Given the description of an element on the screen output the (x, y) to click on. 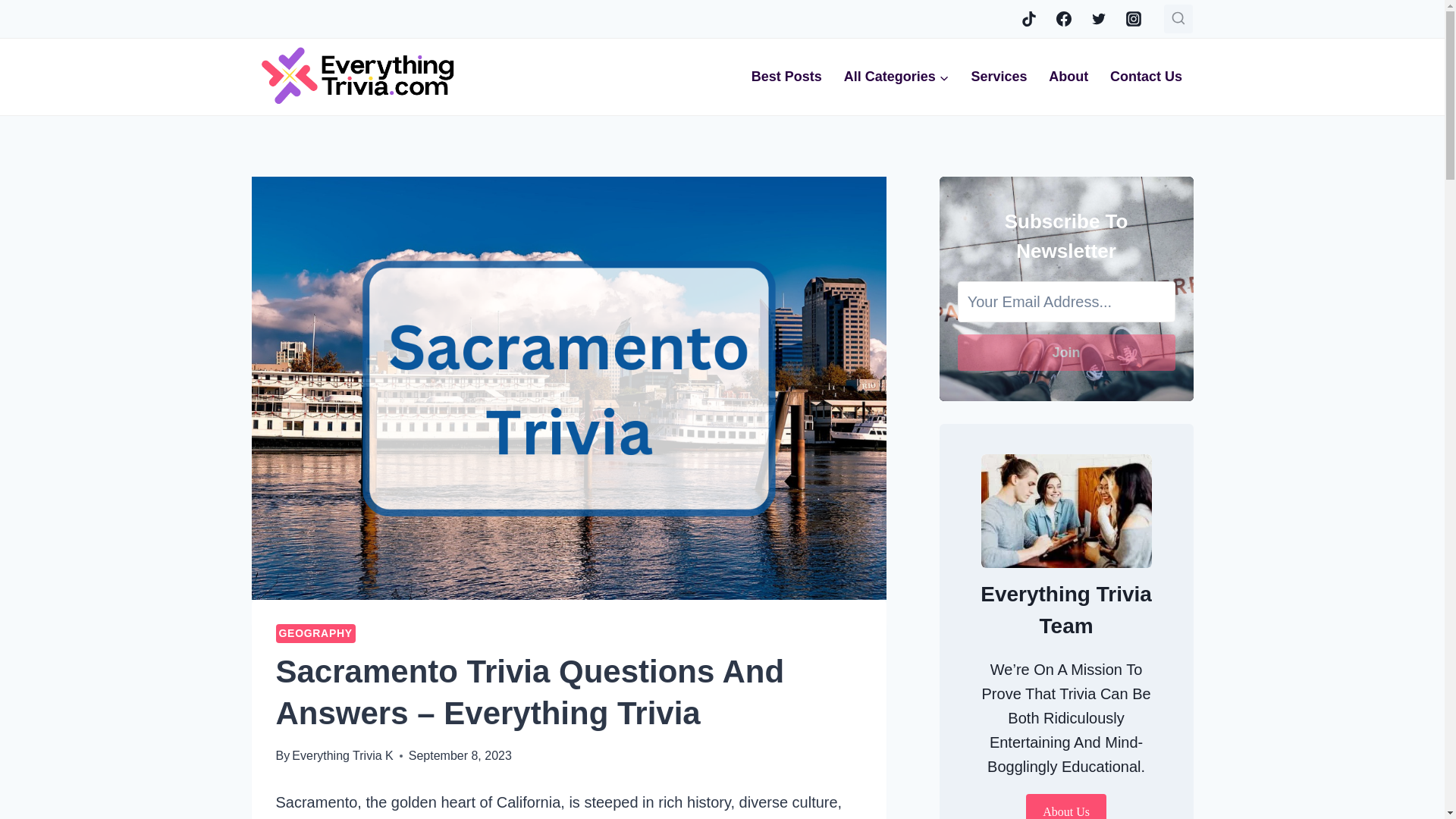
Contact Us (1146, 76)
GEOGRAPHY (315, 633)
Best Posts (785, 76)
Services (998, 76)
About (1068, 76)
All Categories (895, 76)
Everything Trivia K (342, 755)
